Given the description of an element on the screen output the (x, y) to click on. 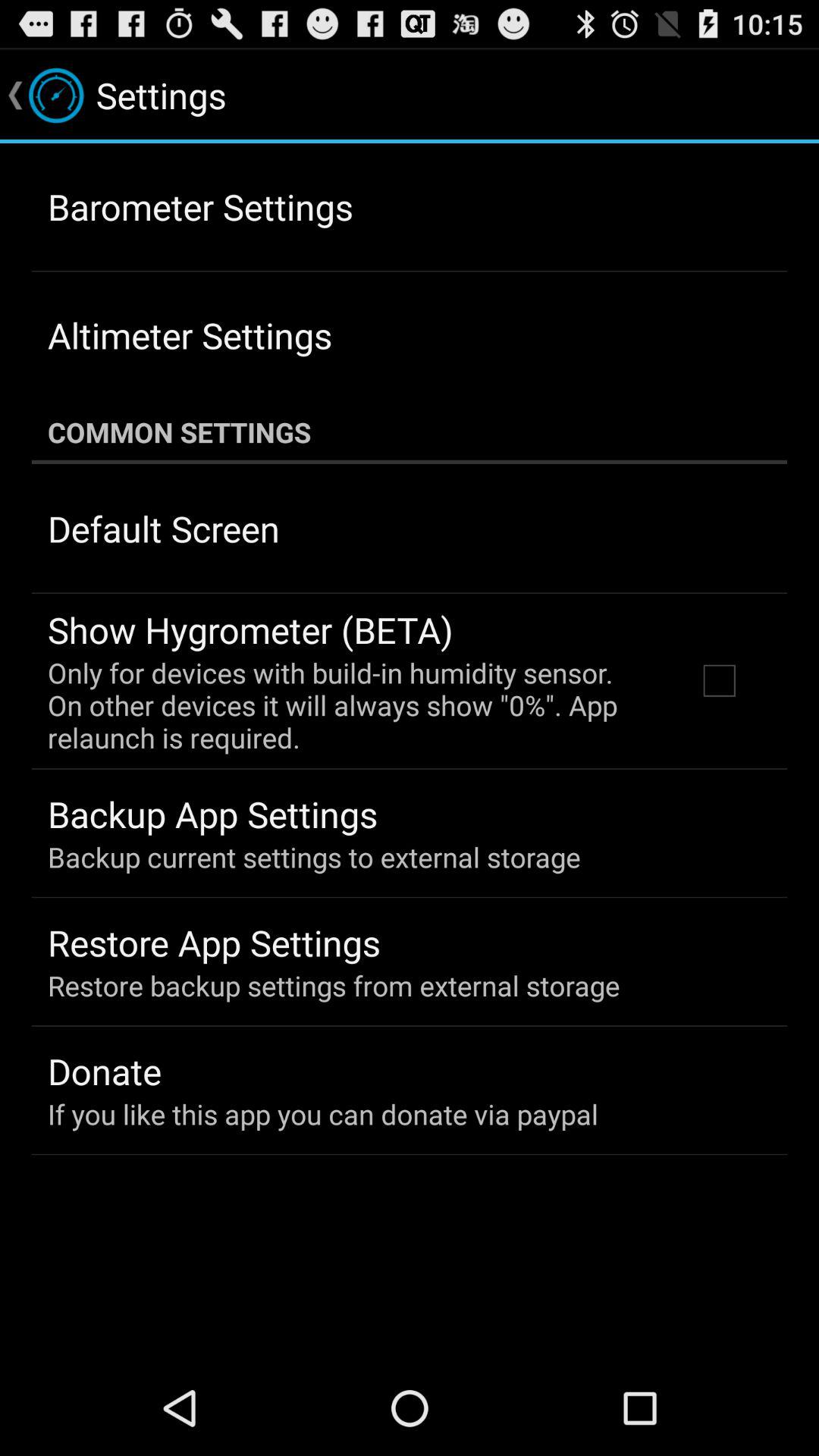
select icon at the top (409, 432)
